Given the description of an element on the screen output the (x, y) to click on. 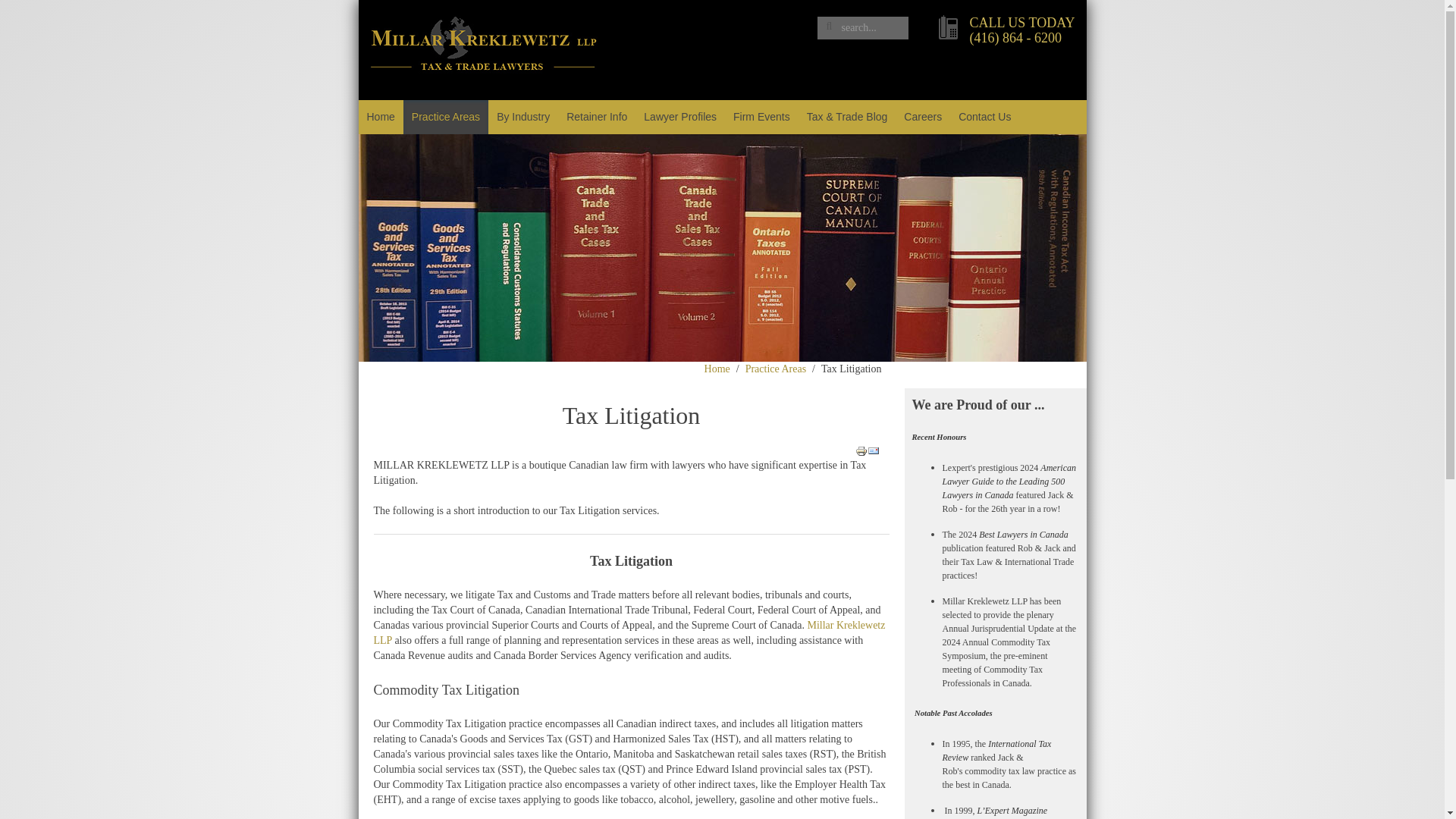
Practice Areas (775, 368)
Lawyer Profiles (679, 116)
By Industry (522, 116)
Home (717, 368)
Practice Areas (445, 116)
Contact Us (984, 116)
Firm Events (761, 116)
Millar Kreklewetz LLP (628, 632)
Email (873, 449)
Careers (922, 116)
Retainer Info (595, 116)
Home (380, 116)
Print (861, 449)
